Given the description of an element on the screen output the (x, y) to click on. 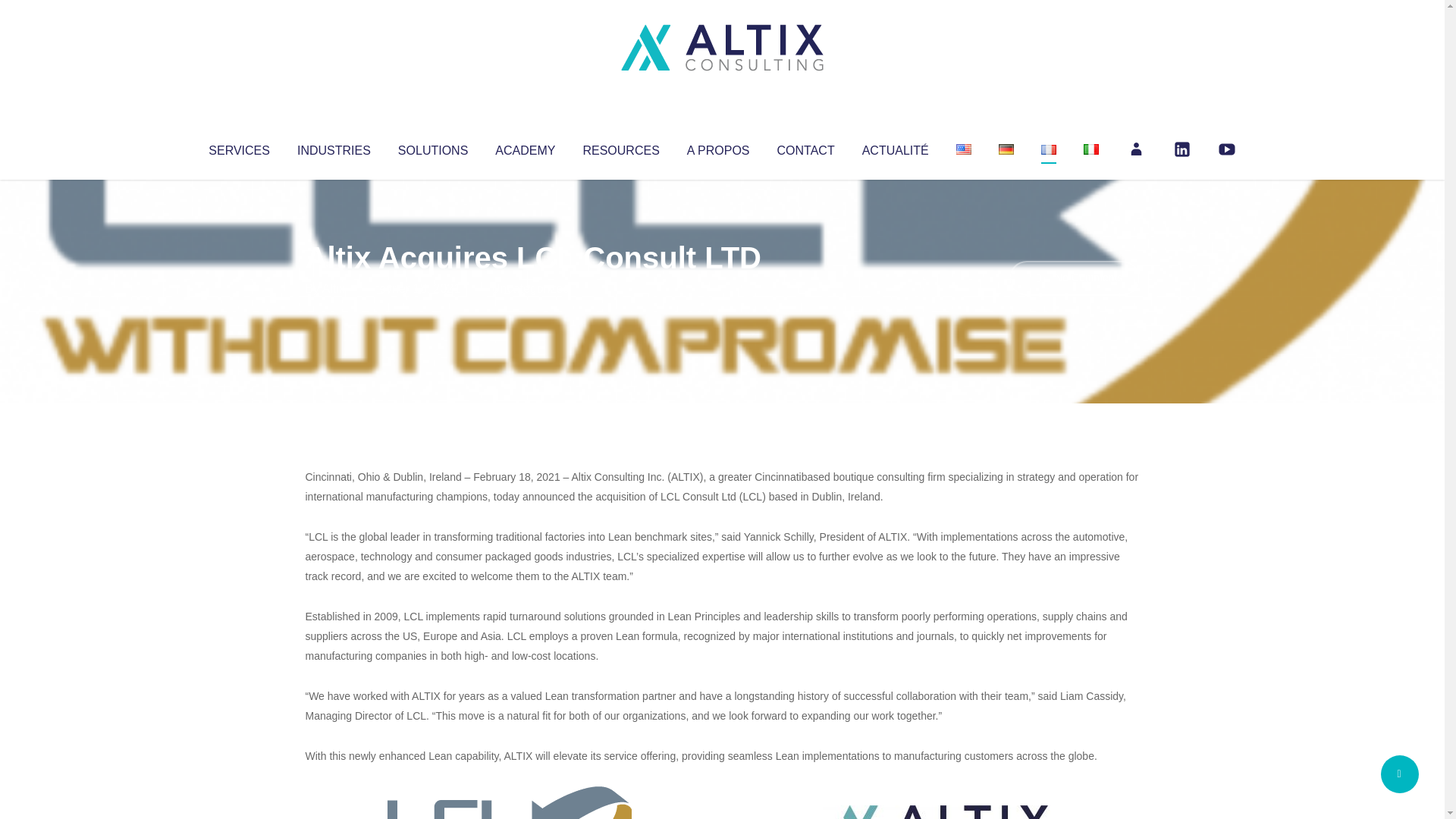
A PROPOS (718, 146)
Altix (333, 287)
ACADEMY (524, 146)
SERVICES (238, 146)
INDUSTRIES (334, 146)
No Comments (1073, 278)
RESOURCES (620, 146)
SOLUTIONS (432, 146)
Uncategorized (530, 287)
Articles par Altix (333, 287)
